Given the description of an element on the screen output the (x, y) to click on. 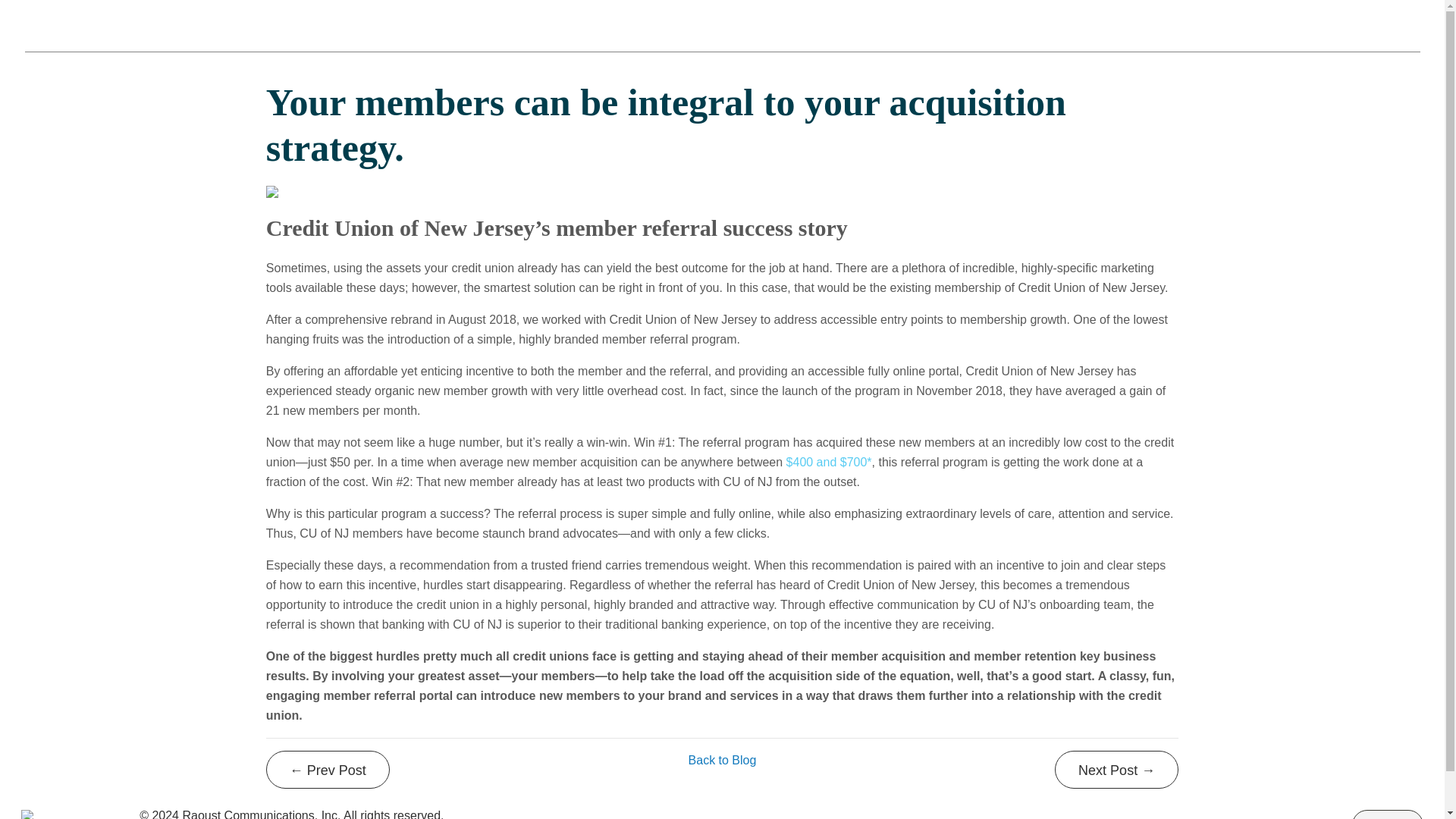
Back to Blog (722, 759)
An opportunity presents itself. (328, 769)
Giving hope. (1115, 769)
Contact (1387, 814)
